Given the description of an element on the screen output the (x, y) to click on. 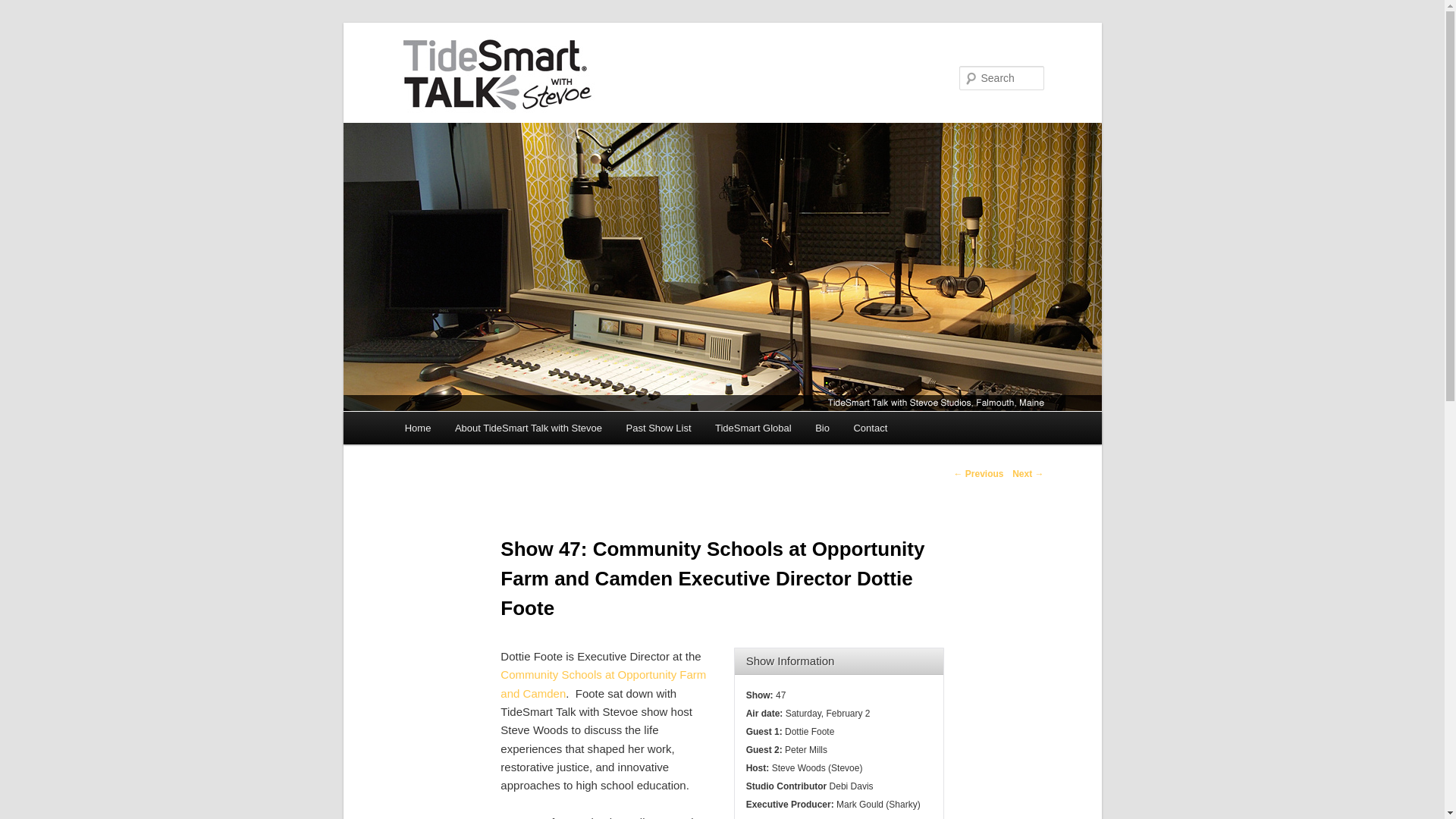
Bio (822, 427)
Skip to primary content (472, 430)
Contact (870, 427)
Search (24, 8)
Skip to secondary content (479, 430)
Past Show List (658, 427)
About TideSmart Talk with Stevoe (528, 427)
TideSmart Global (753, 427)
Skip to secondary content (479, 430)
Community Schools at Opportunity Farm and Camden (603, 683)
Skip to primary content (472, 430)
Home (417, 427)
